Given the description of an element on the screen output the (x, y) to click on. 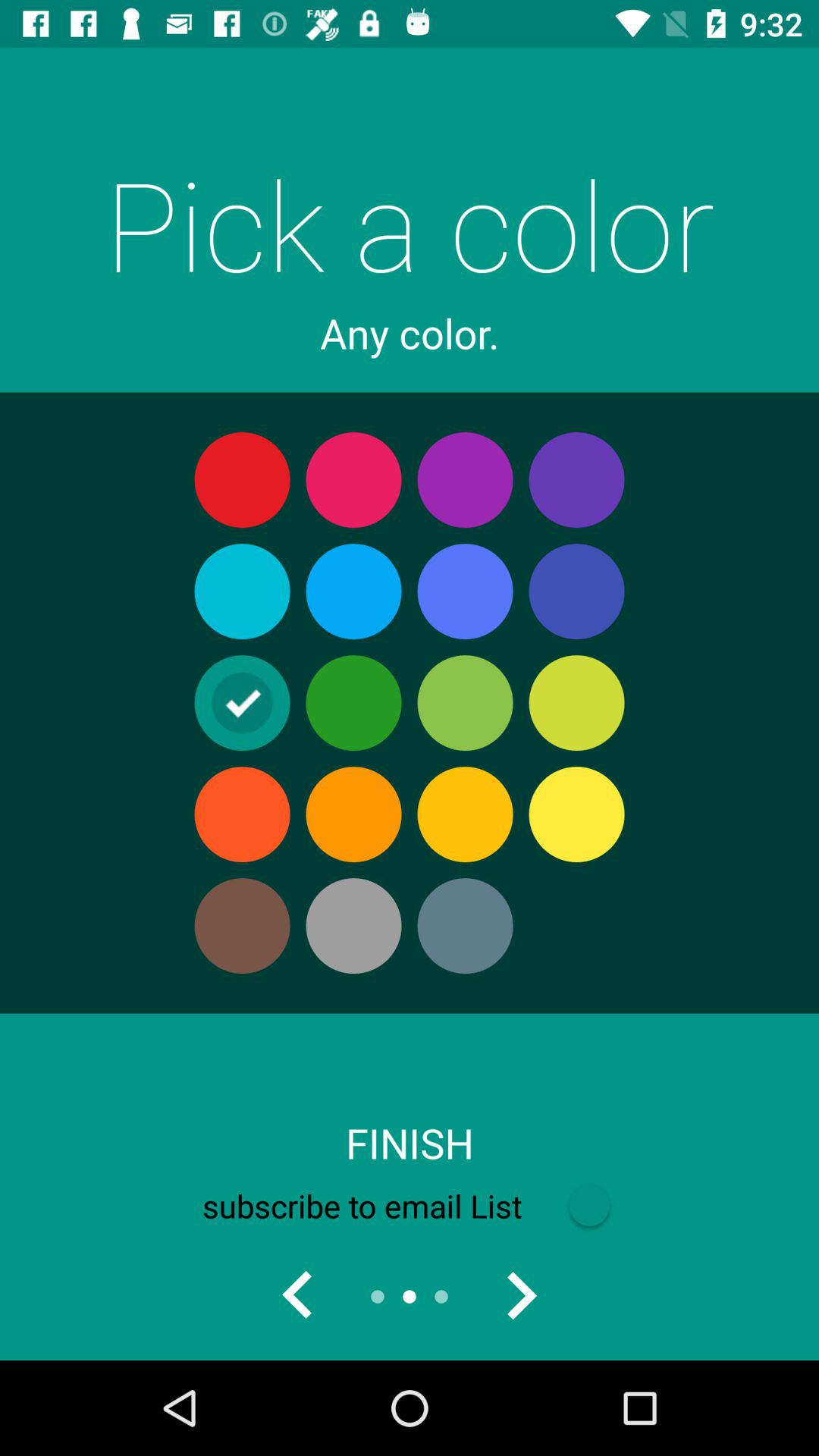
press finish icon (409, 1143)
